Given the description of an element on the screen output the (x, y) to click on. 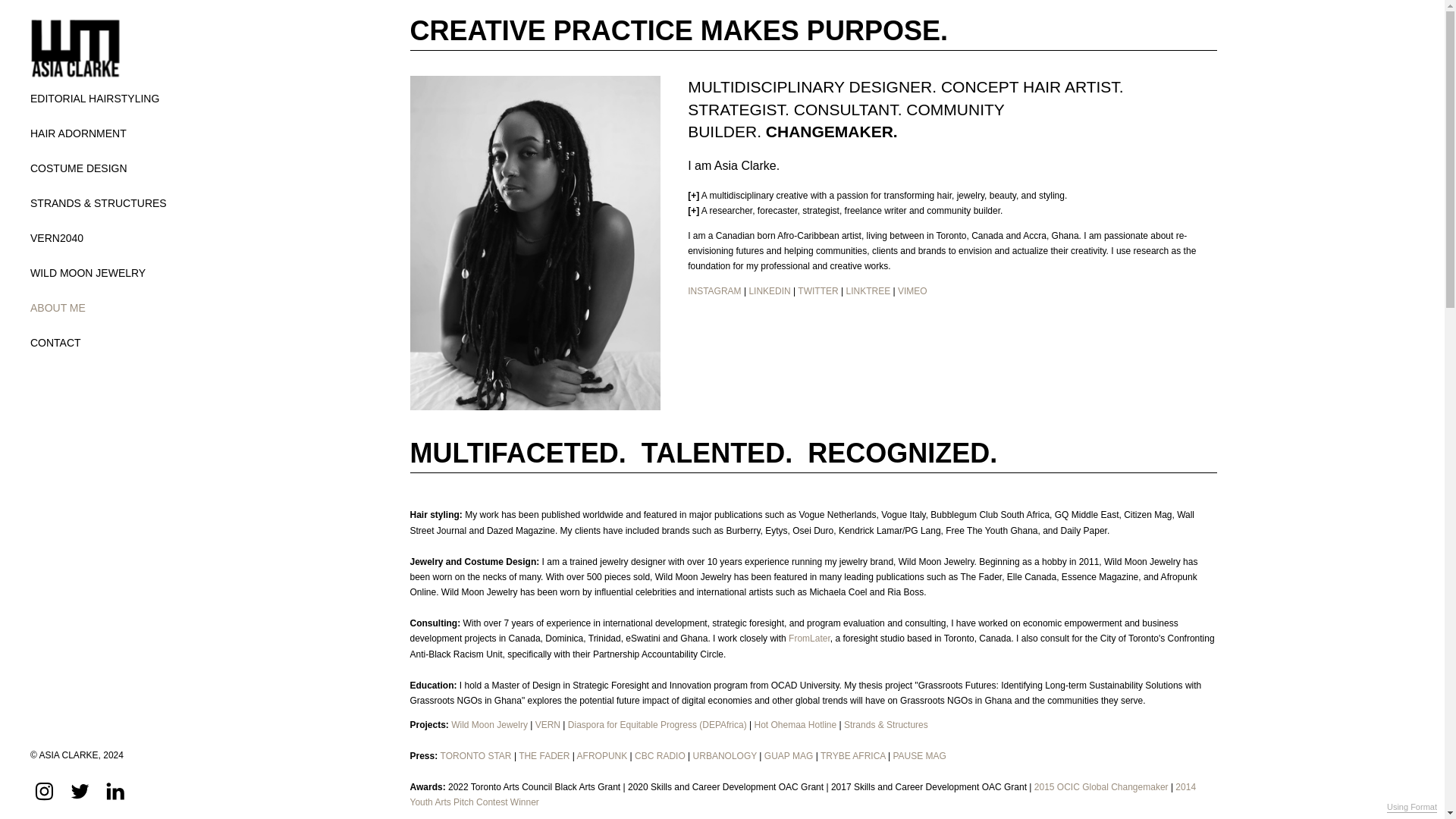
2014 Youth Arts Pitch Contest Winner  (802, 794)
Using Format (1412, 807)
Twitter (79, 789)
FromLater (809, 638)
WILD MOON JEWELRY (87, 272)
2015 OCIC Global Changemaker (1101, 787)
PAUSE MAG (918, 756)
URBANOLOGY (725, 756)
AFROPUNK (601, 756)
EDITORIAL HAIRSTYLING (94, 97)
CONTACT (55, 342)
COSTUME DESIGN (79, 168)
Wild Moon Jewelry (489, 724)
TWITTER (817, 290)
LINKEDIN (769, 290)
